Given the description of an element on the screen output the (x, y) to click on. 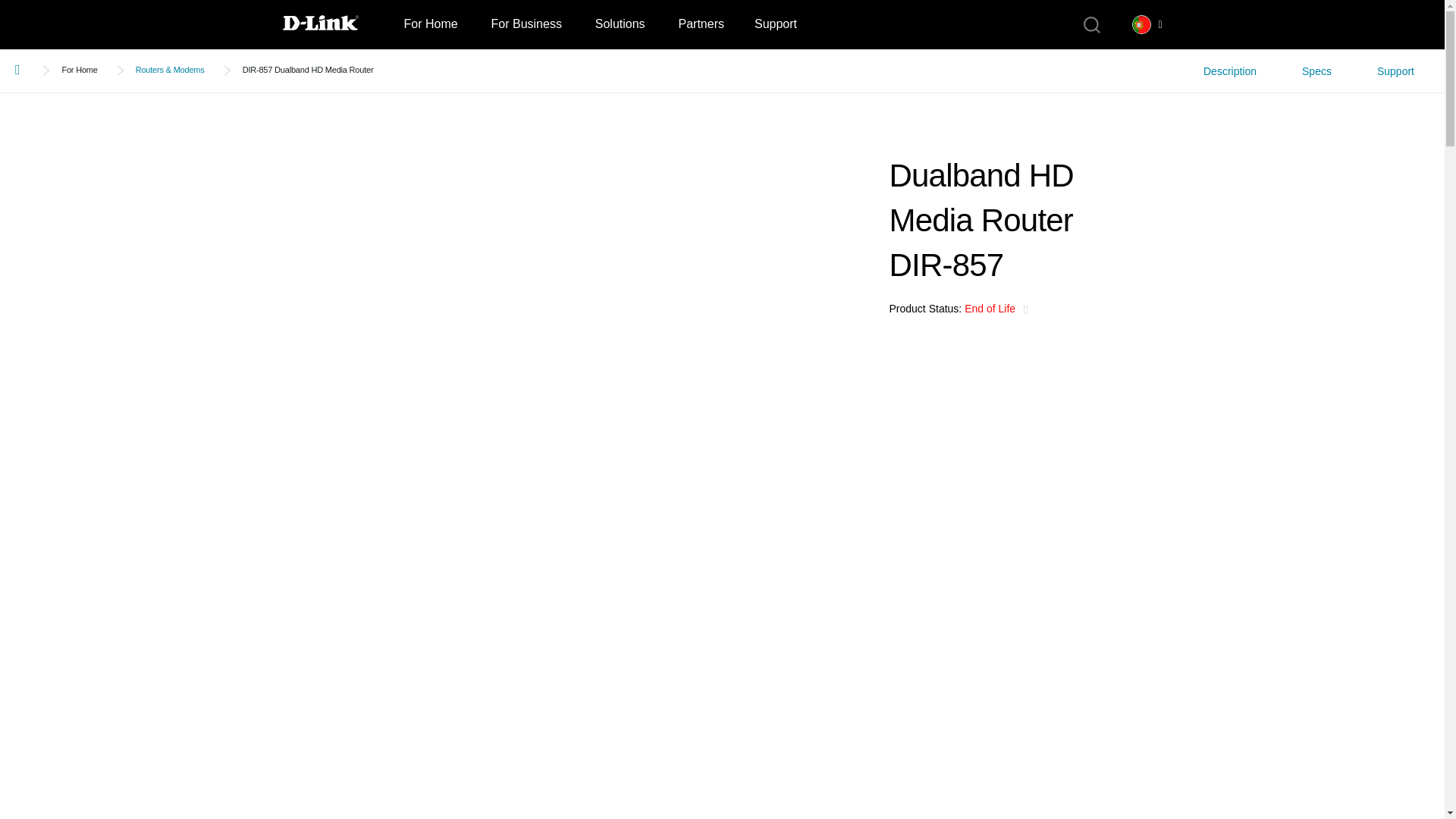
Partners (700, 24)
For Home (429, 24)
D-Link (335, 24)
Support (775, 24)
For Business (526, 24)
Solutions (620, 24)
